Given the description of an element on the screen output the (x, y) to click on. 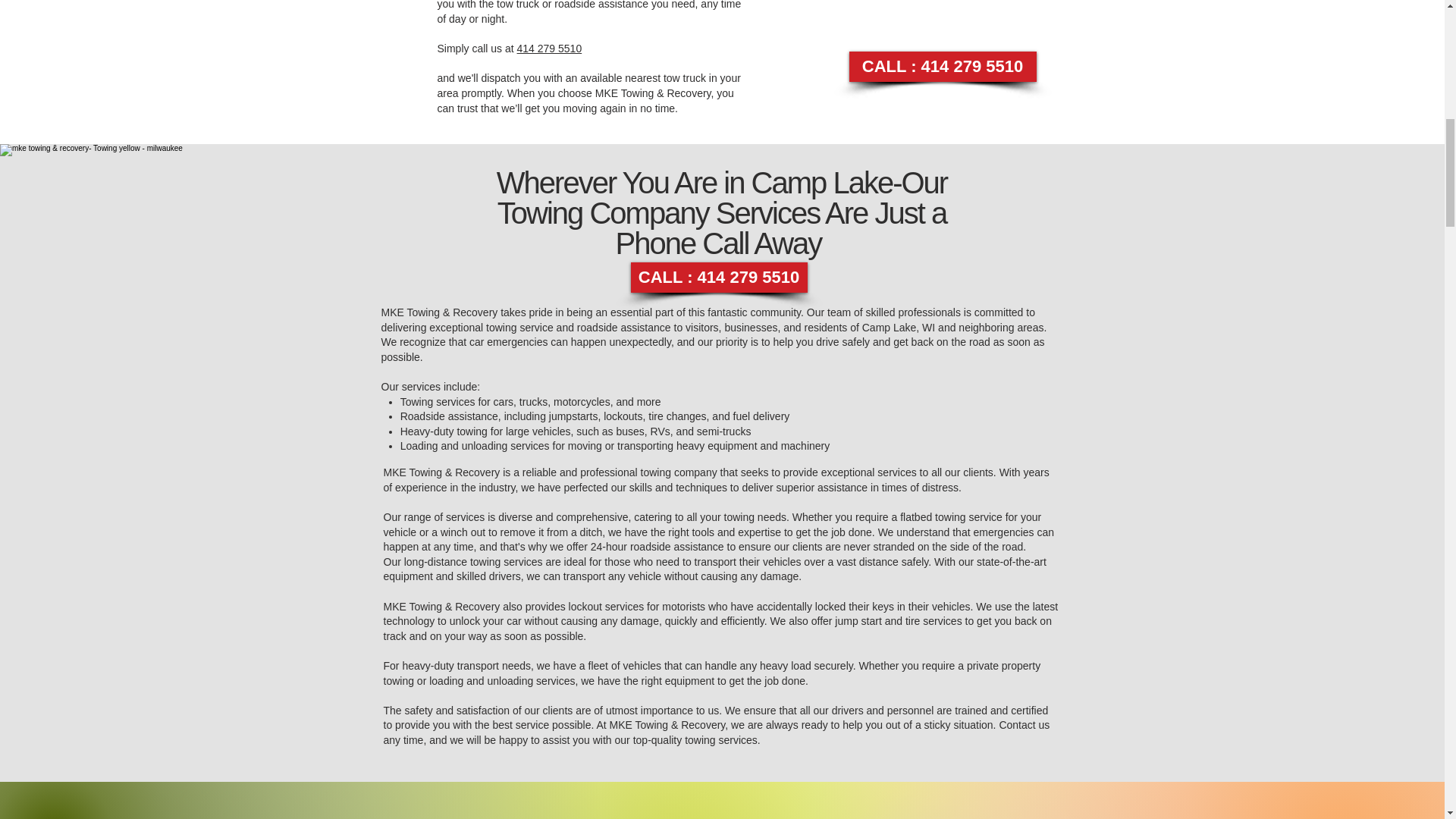
CALL : 414 279 5510 (719, 277)
CALL : 414 279 5510 (942, 66)
414 279 5510 (549, 48)
